Given the description of an element on the screen output the (x, y) to click on. 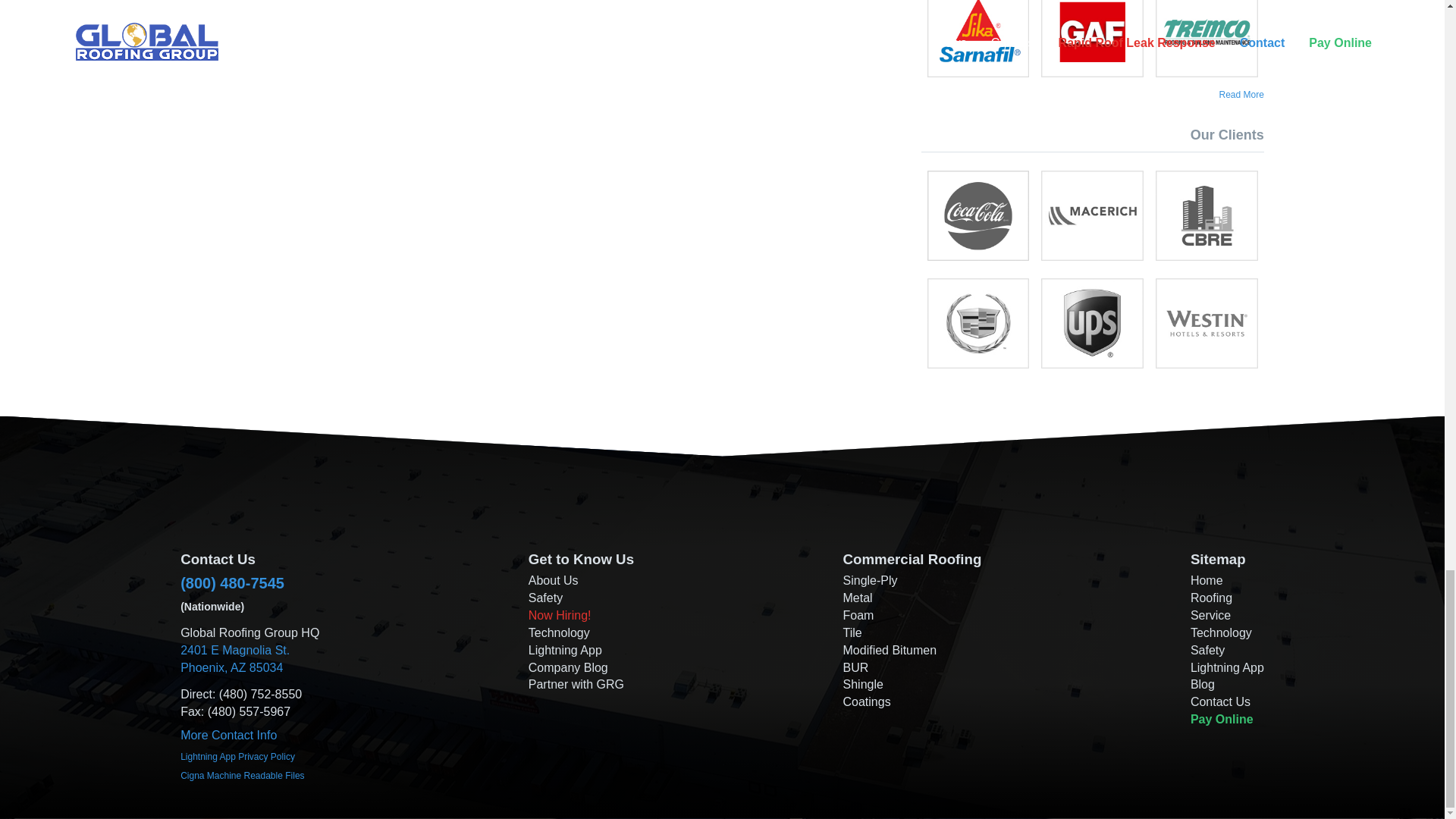
Lightning App Privacy Policy (237, 756)
Safety (545, 597)
Cigna Machine Readable Files (242, 775)
About Us (553, 580)
Read More (234, 658)
More Contact Info (1241, 94)
